Given the description of an element on the screen output the (x, y) to click on. 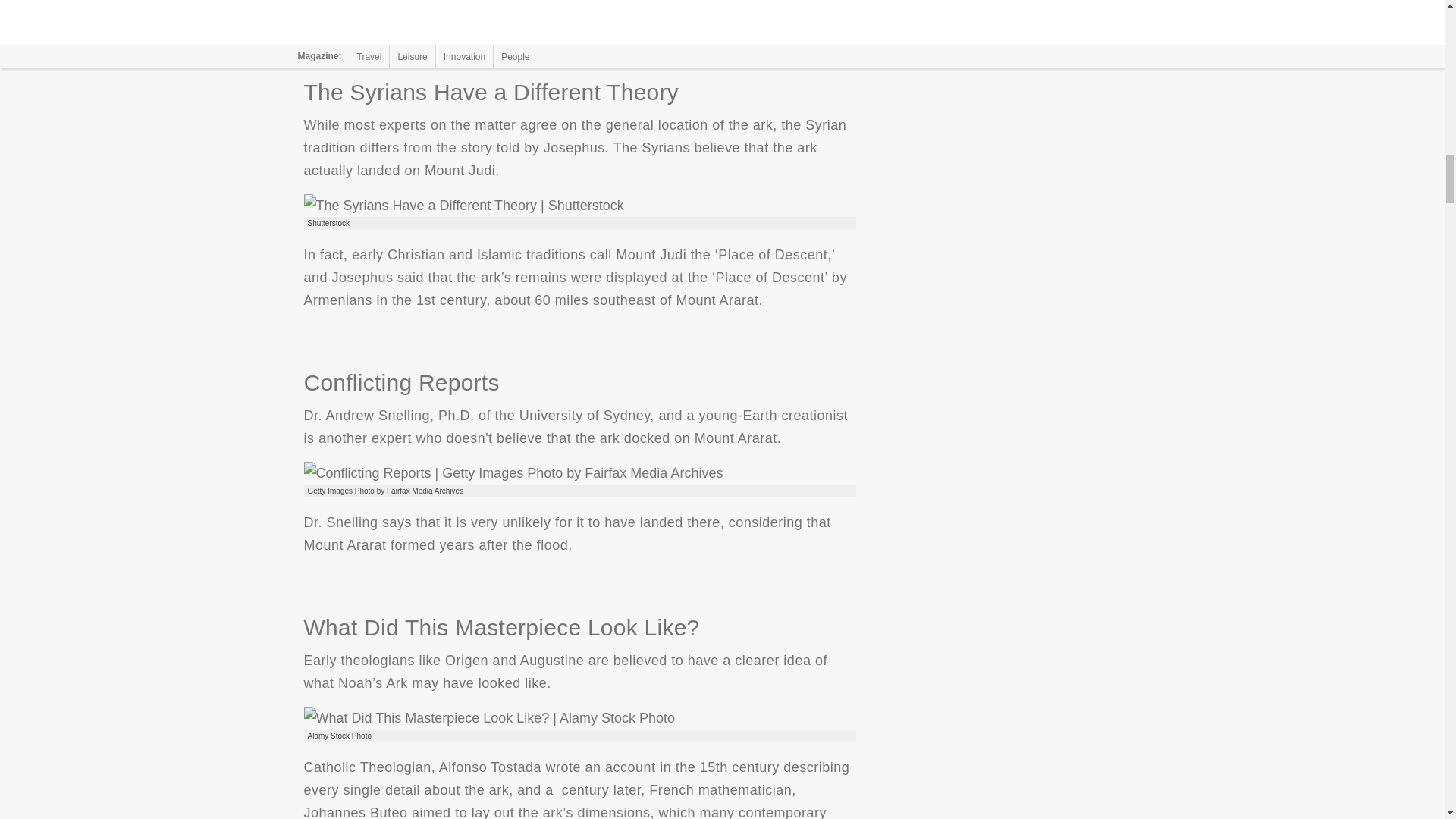
What Did This Masterpiece Look Like? (488, 717)
Conflicting Reports (512, 472)
The Syrians Have a Different Theory (462, 205)
